Given the description of an element on the screen output the (x, y) to click on. 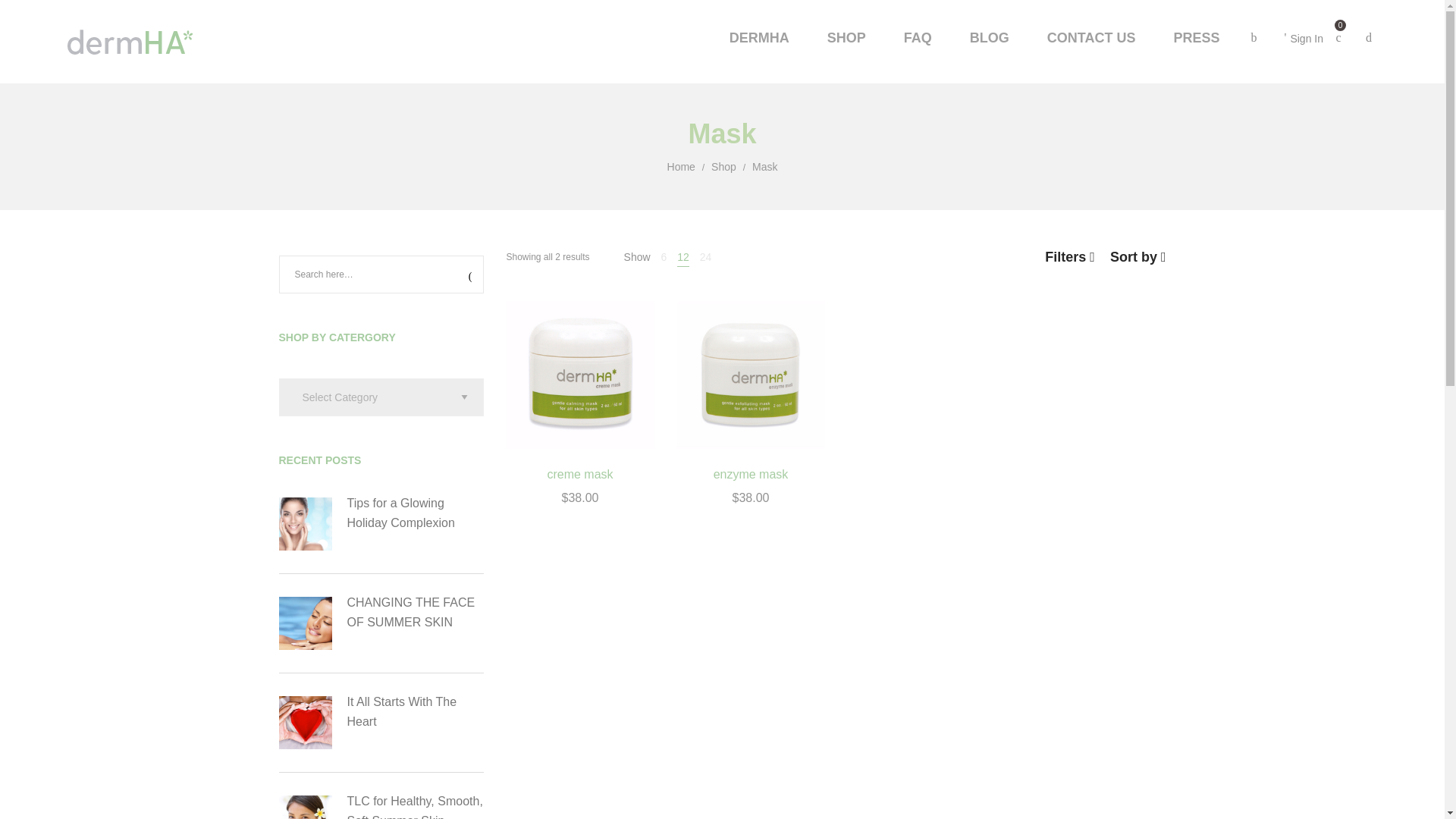
SHOP (846, 37)
DERMHA (758, 37)
12 (682, 256)
Shop (723, 166)
BLOG (989, 37)
Sign In (1303, 37)
Home (680, 166)
CONTACT US (1091, 37)
Shop (723, 166)
0 (1338, 37)
FAQ (917, 37)
24 (705, 256)
Home (680, 166)
PRESS (1195, 37)
